Given the description of an element on the screen output the (x, y) to click on. 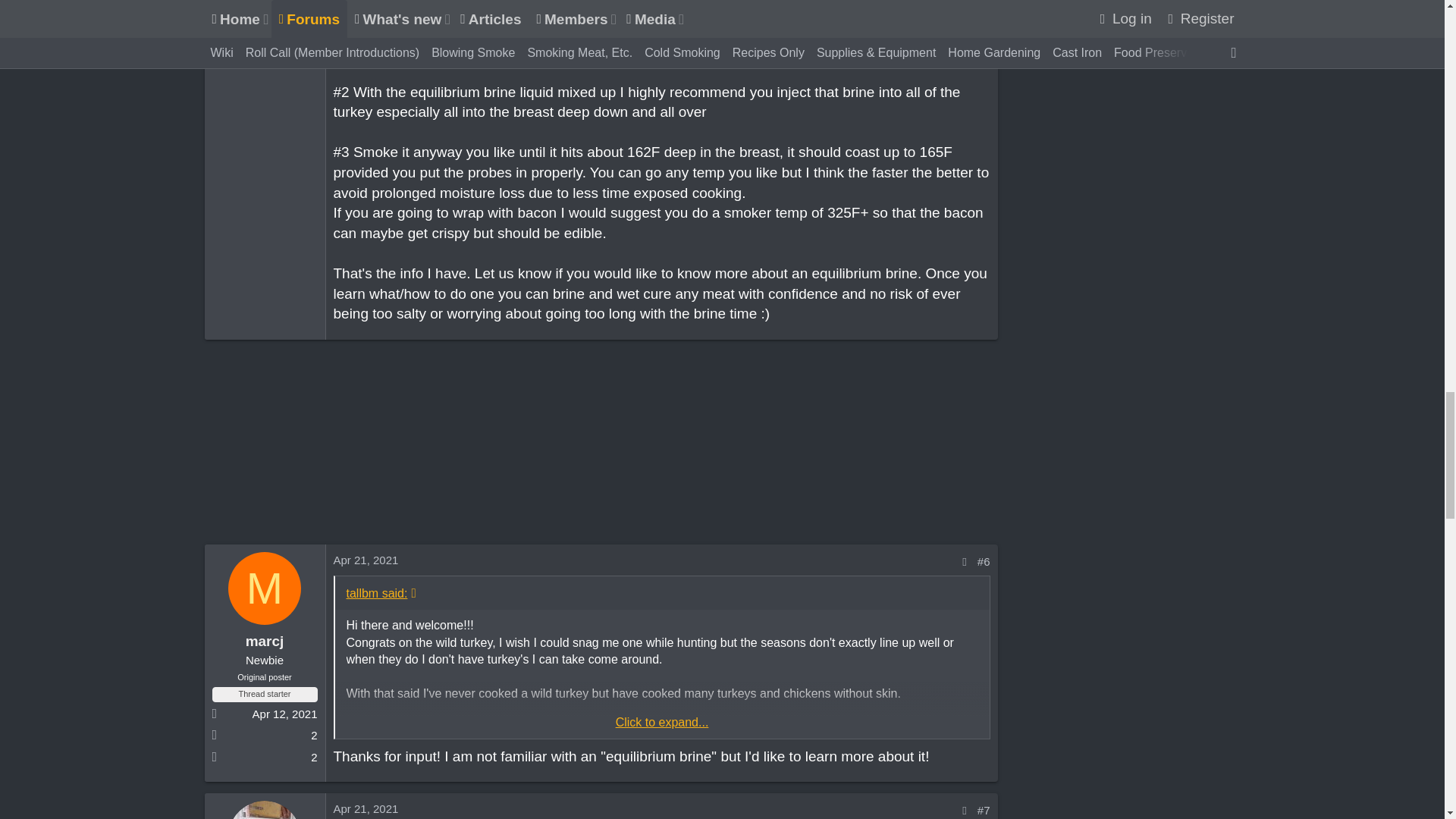
Apr 21, 2021 at 2:16 PM (365, 559)
Apr 21, 2021 at 7:51 PM (365, 808)
